Given the description of an element on the screen output the (x, y) to click on. 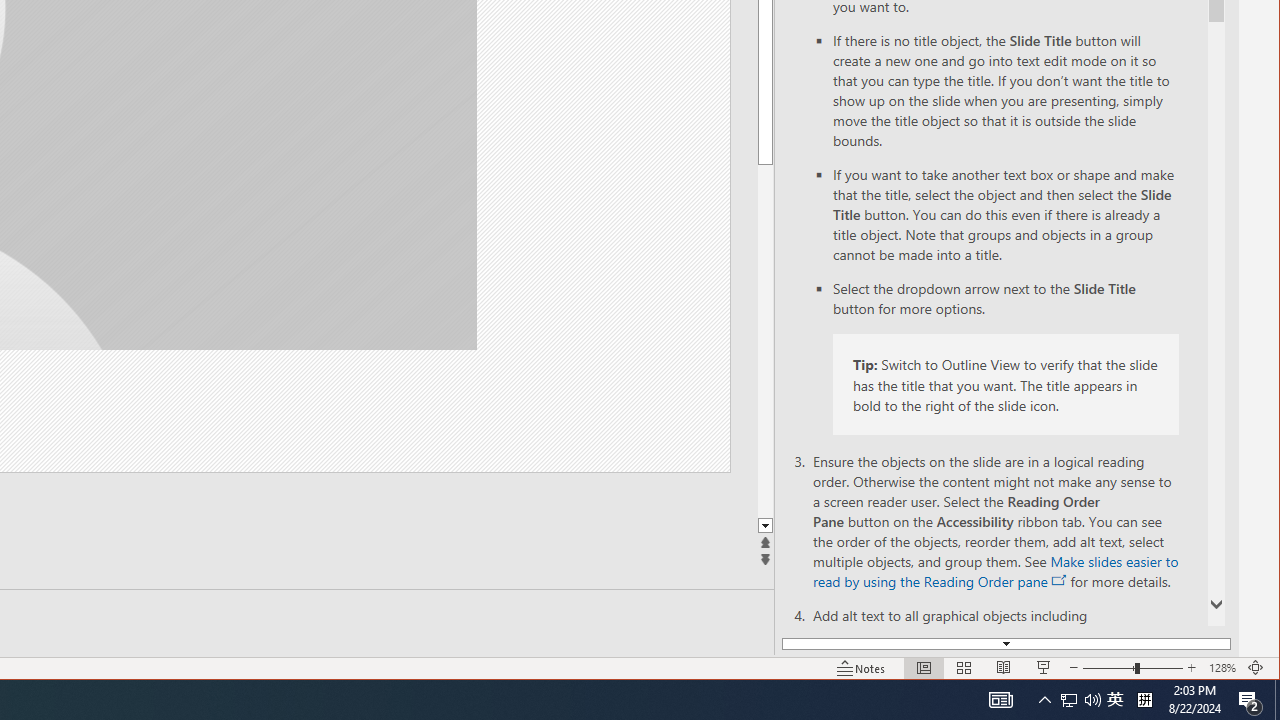
Zoom 128% (1222, 668)
